Given the description of an element on the screen output the (x, y) to click on. 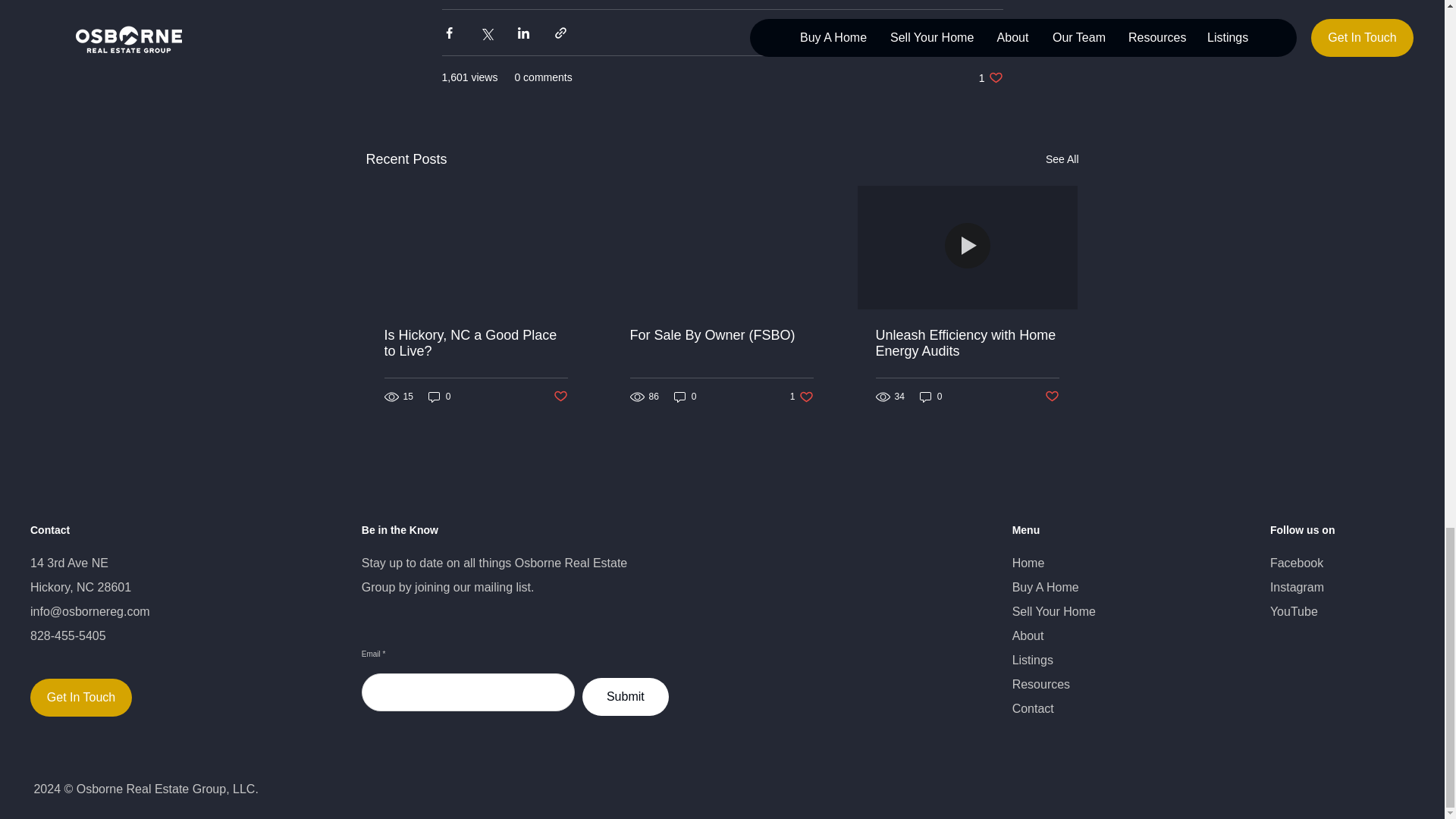
0 (439, 396)
Post not marked as liked (1052, 396)
Unleash Efficiency with Home Energy Audits (966, 343)
0 (685, 396)
Post not marked as liked (801, 396)
0 (560, 396)
See All (930, 396)
Is Hickory, NC a Good Place to Live? (1061, 159)
